Given the description of an element on the screen output the (x, y) to click on. 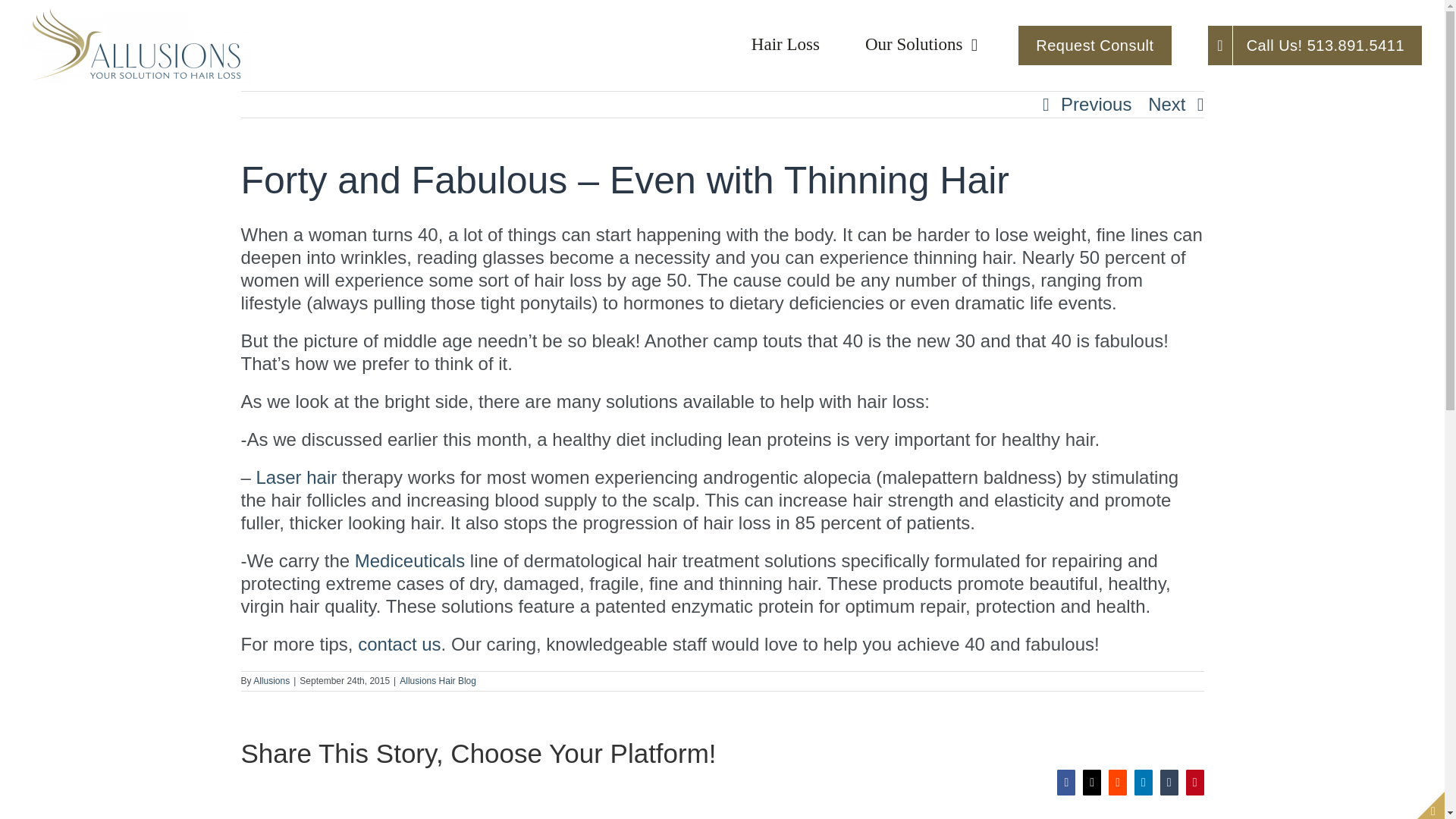
Next (1166, 104)
Our Solutions (920, 45)
Allusions (271, 679)
Laser hair (296, 476)
Call Us! 513.891.5411 (1315, 45)
Allusions Hair Blog (437, 679)
Previous (1096, 104)
Mediceuticals (409, 560)
Request Consult (1093, 45)
Posts by Allusions (271, 679)
